Given the description of an element on the screen output the (x, y) to click on. 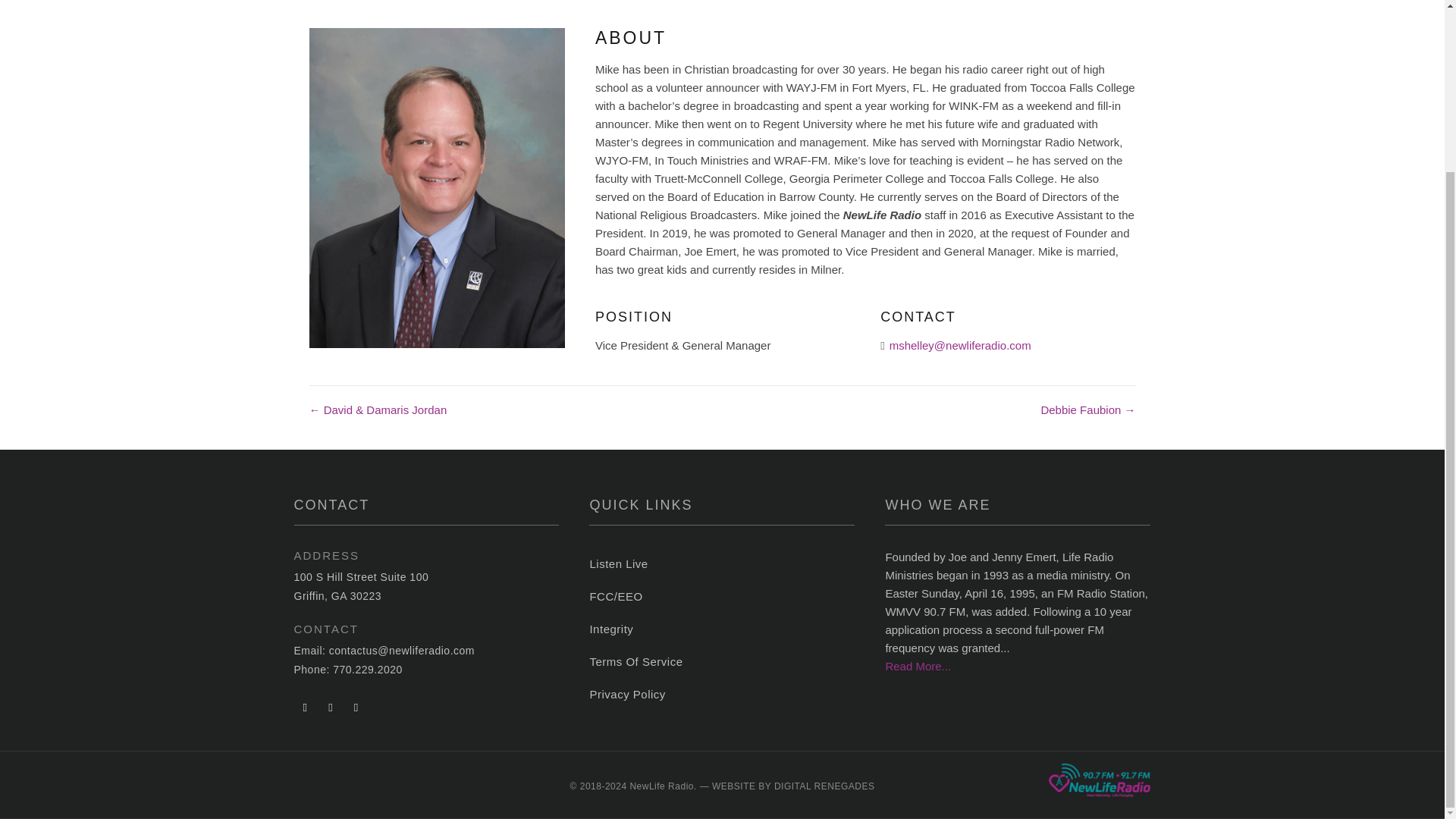
Integrity (721, 629)
770.229.2020 (368, 669)
Listen Live (721, 563)
Terms Of Service (721, 662)
logo (1099, 780)
